Given the description of an element on the screen output the (x, y) to click on. 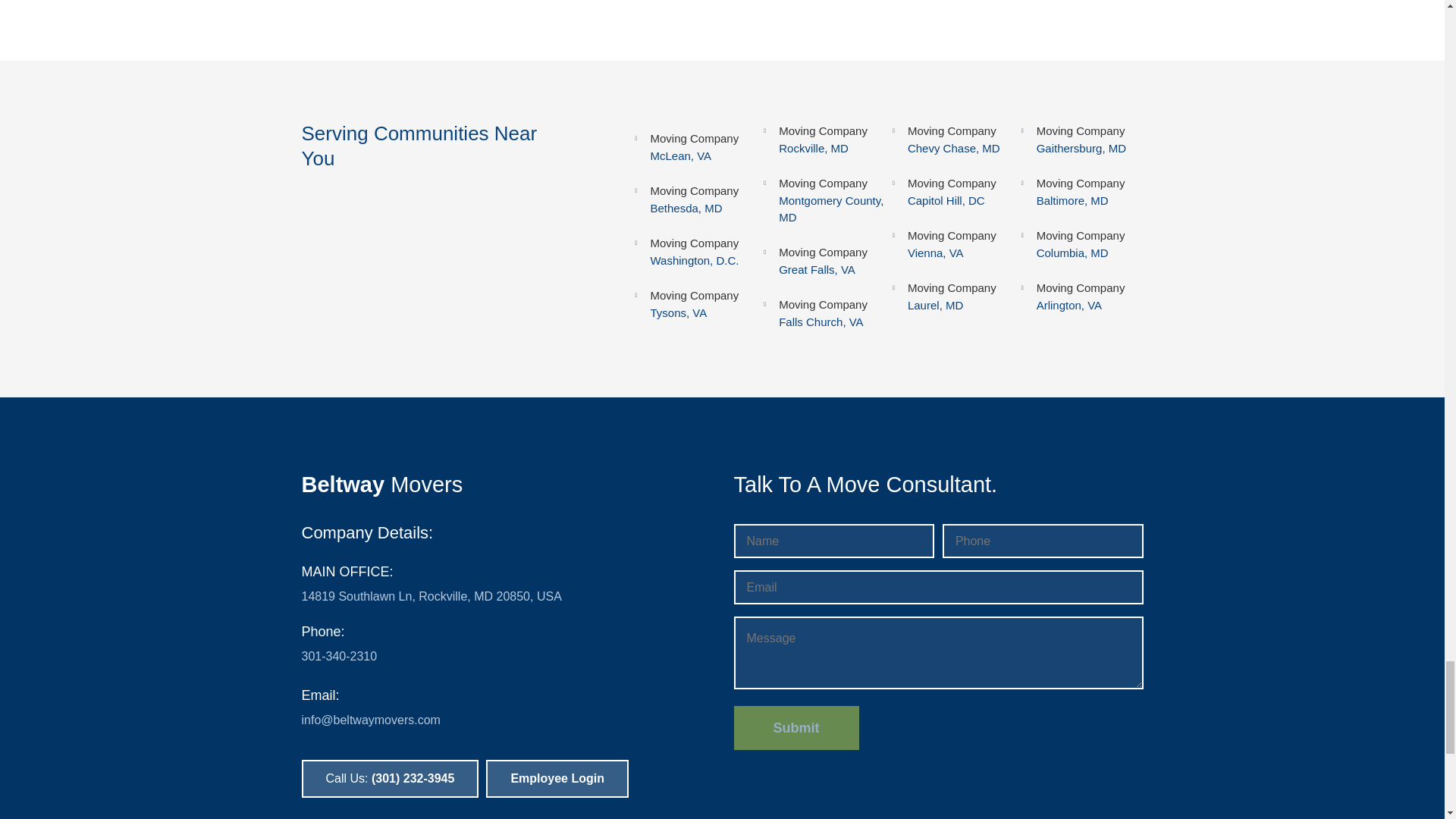
Submit (796, 727)
